Given the description of an element on the screen output the (x, y) to click on. 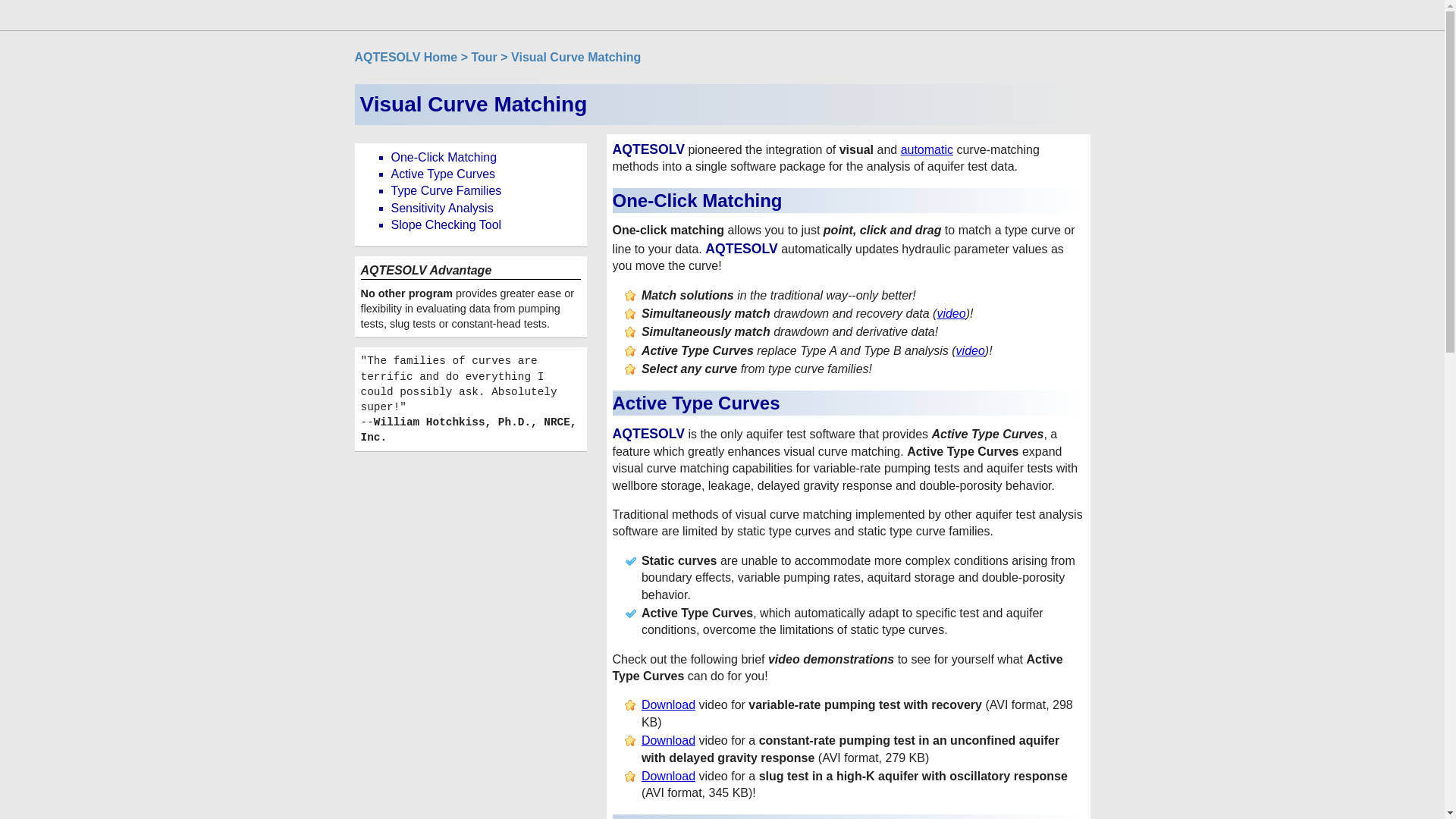
One-Click Matching (444, 156)
Download (668, 704)
automatic (927, 149)
AQTESOLV Home (406, 56)
Download (668, 739)
Slope Checking Tool (446, 224)
Active Type Curves (443, 173)
Type Curve Families (446, 190)
video (950, 313)
Download (668, 775)
